Given the description of an element on the screen output the (x, y) to click on. 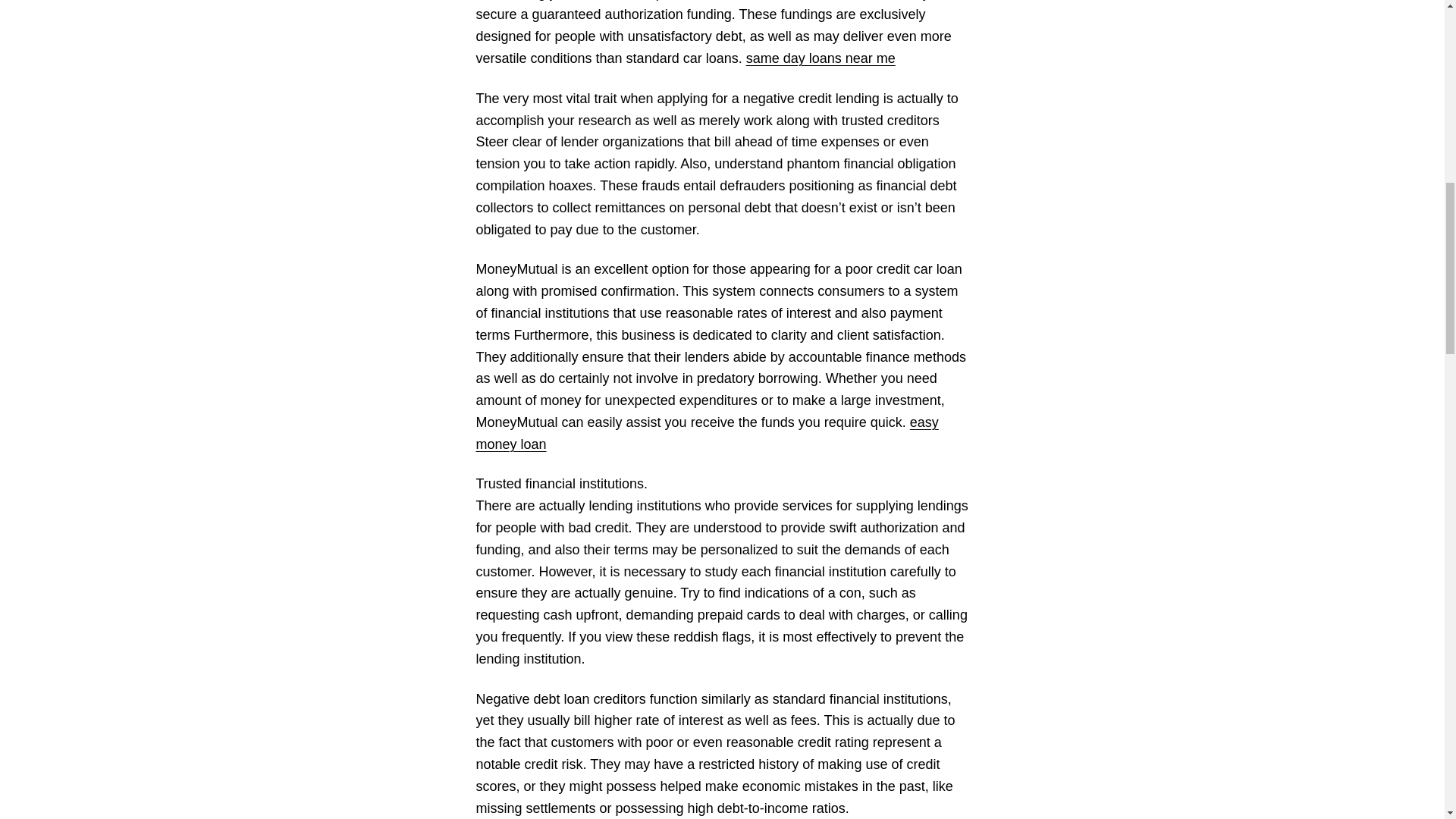
easy money loan (707, 433)
same day loans near me (820, 58)
